Given the description of an element on the screen output the (x, y) to click on. 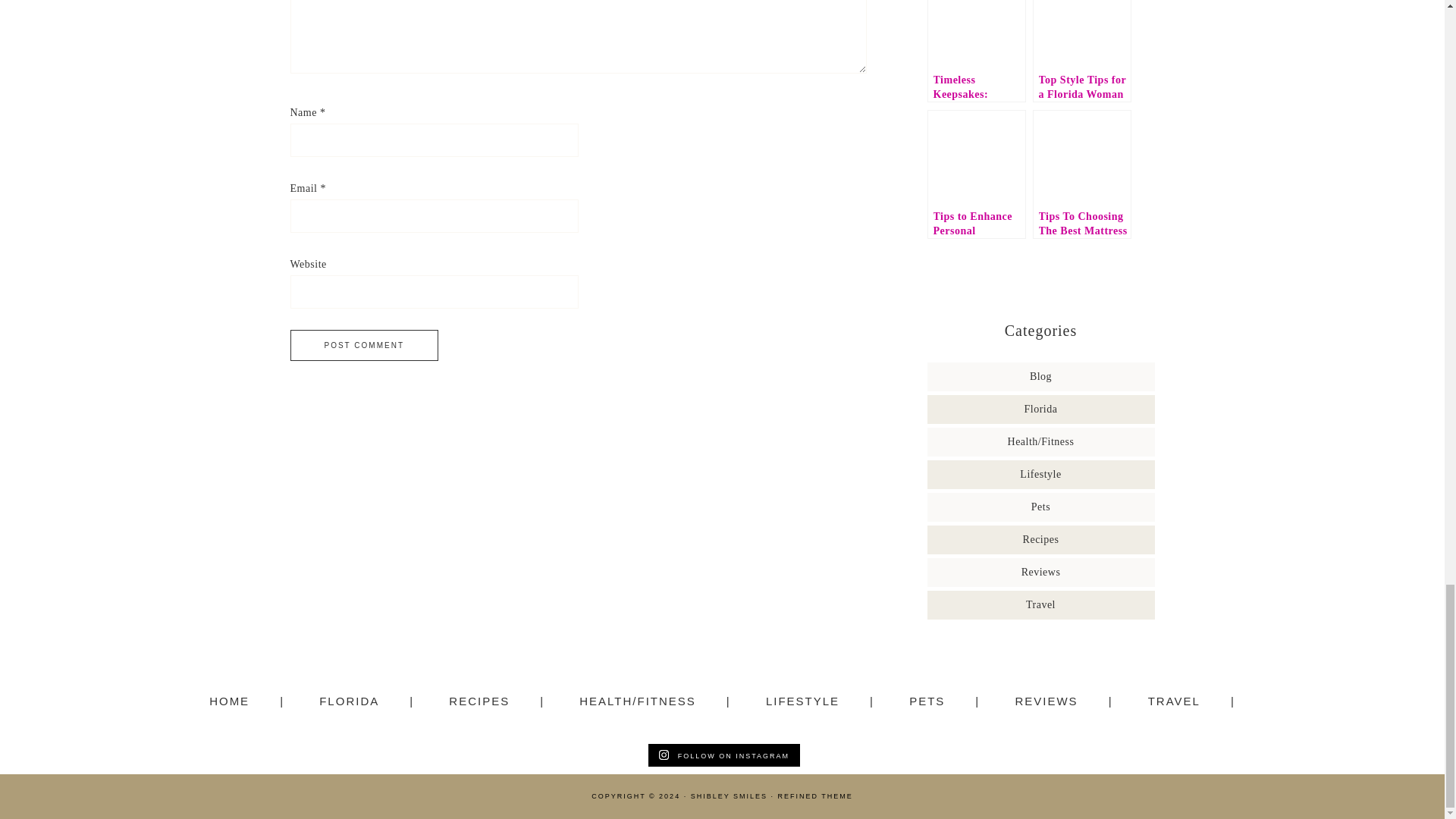
Post Comment (363, 345)
Top Style Tips for a Florida Woman (1081, 51)
Post Comment (363, 345)
